Given the description of an element on the screen output the (x, y) to click on. 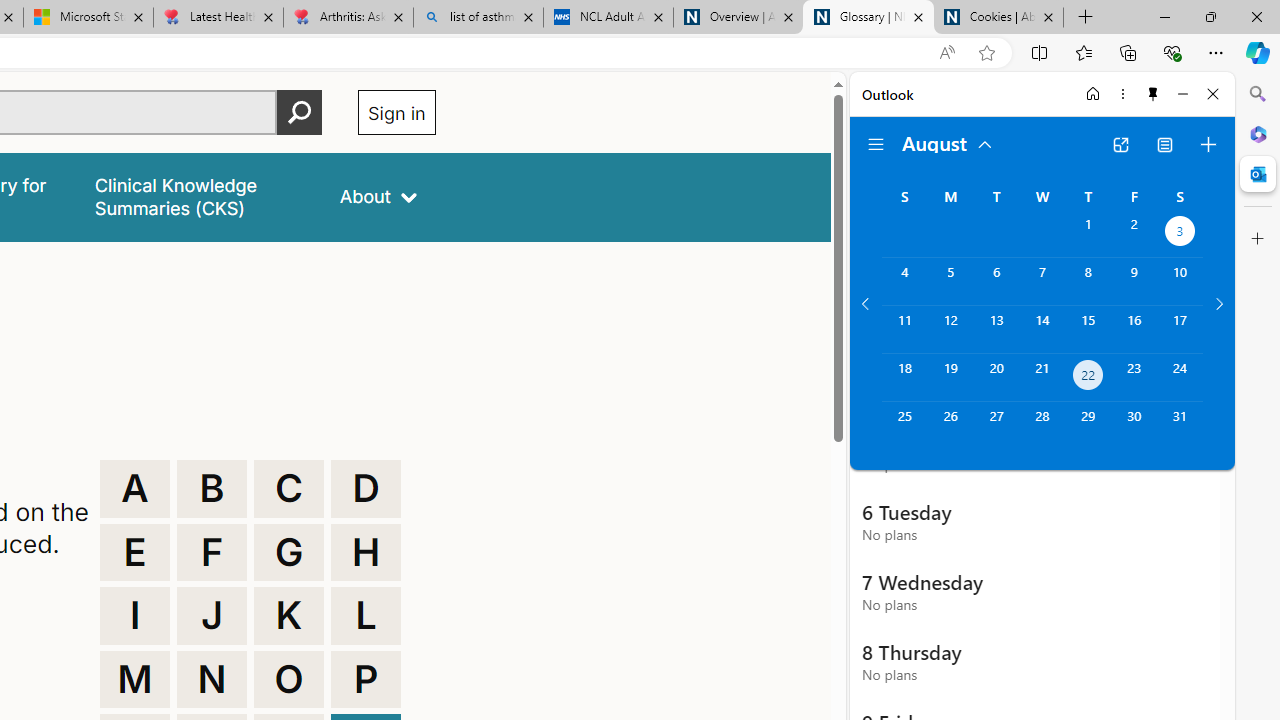
Monday, August 5, 2024.  (950, 281)
Cookies | About | NICE (998, 17)
Saturday, August 17, 2024.  (1180, 329)
Saturday, August 10, 2024.  (1180, 281)
Tuesday, August 27, 2024.  (996, 425)
Sunday, August 4, 2024.  (904, 281)
Monday, August 26, 2024.  (950, 425)
Saturday, August 31, 2024.  (1180, 425)
